Given the description of an element on the screen output the (x, y) to click on. 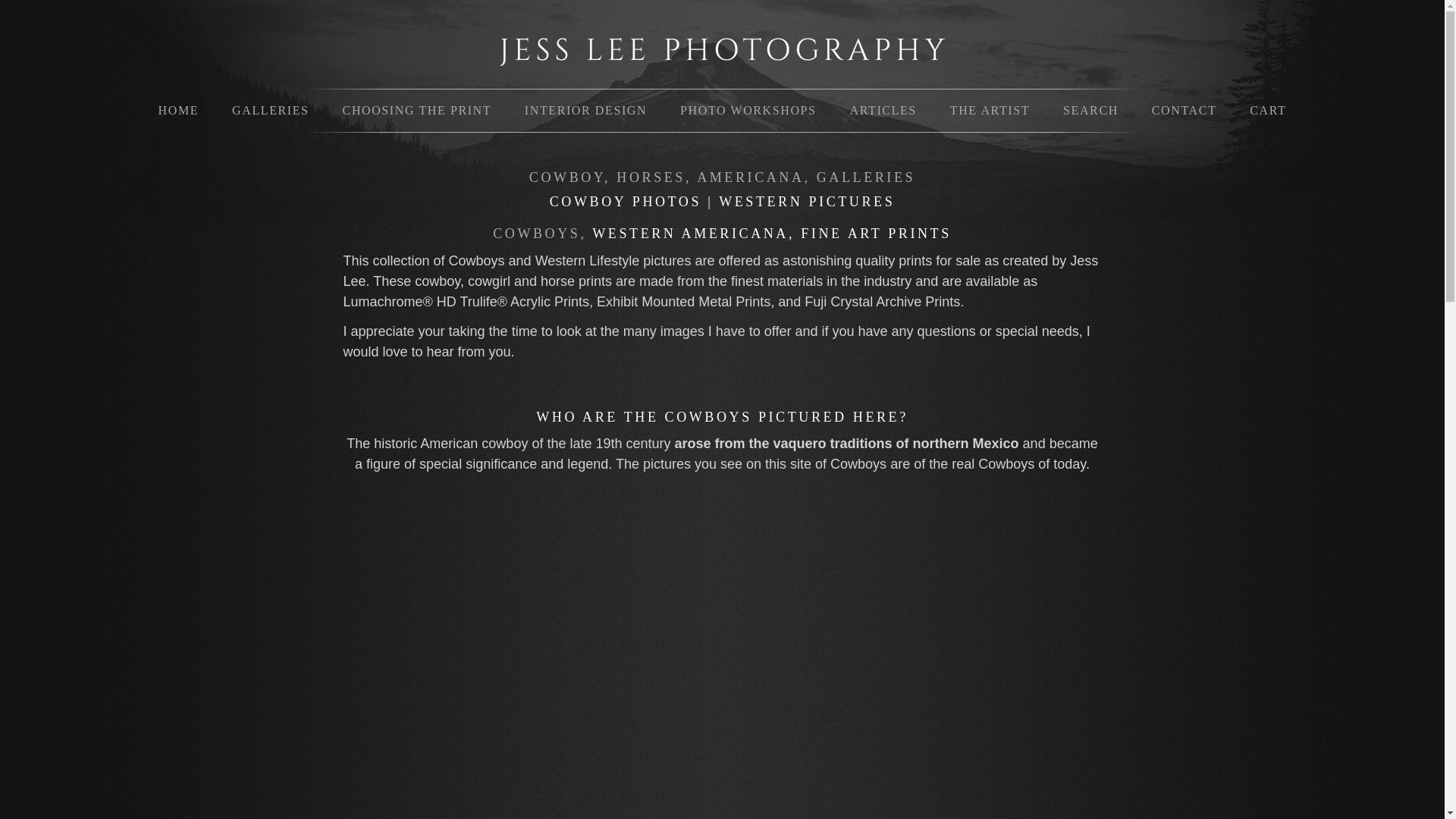
CHOOSING THE PRINT (418, 110)
CART (1267, 110)
COWBOY, HORSES, AMERICANA, GALLERIES (722, 177)
HOME (177, 110)
GALLERIES (269, 110)
INTERIOR DESIGN (588, 110)
Photos by Jess Lee (721, 55)
COWBOYS, (539, 233)
ARTICLES (882, 110)
PHOTO WORKSHOPS (748, 110)
